Given the description of an element on the screen output the (x, y) to click on. 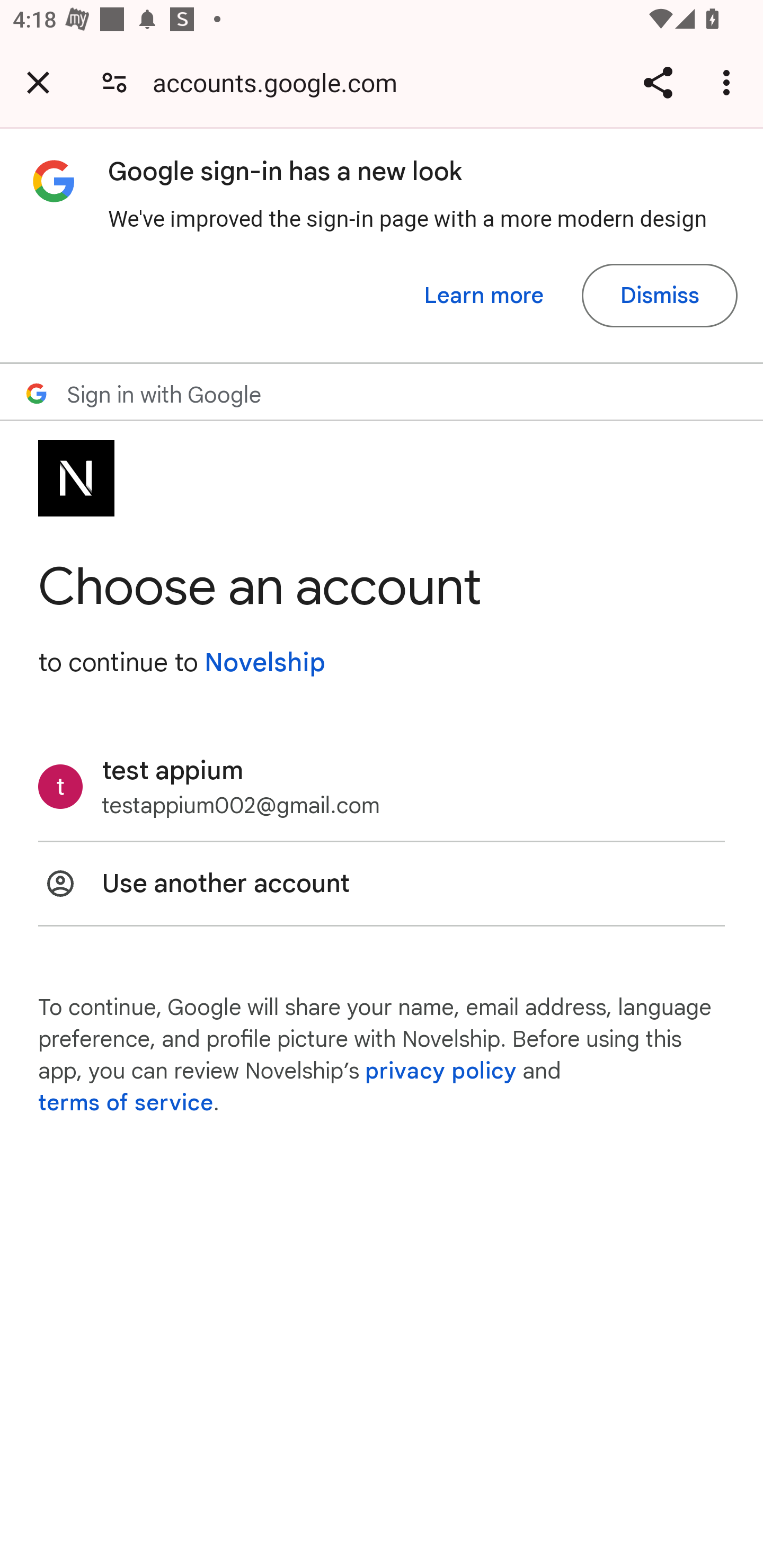
Close tab (38, 82)
Share (657, 82)
Customize and control Google Chrome (729, 82)
Connection is secure (114, 81)
accounts.google.com (281, 81)
Learn more (483, 295)
Dismiss (659, 295)
Novelship (264, 662)
Use another account (381, 883)
privacy policy (440, 1070)
terms of service (126, 1102)
